Given the description of an element on the screen output the (x, y) to click on. 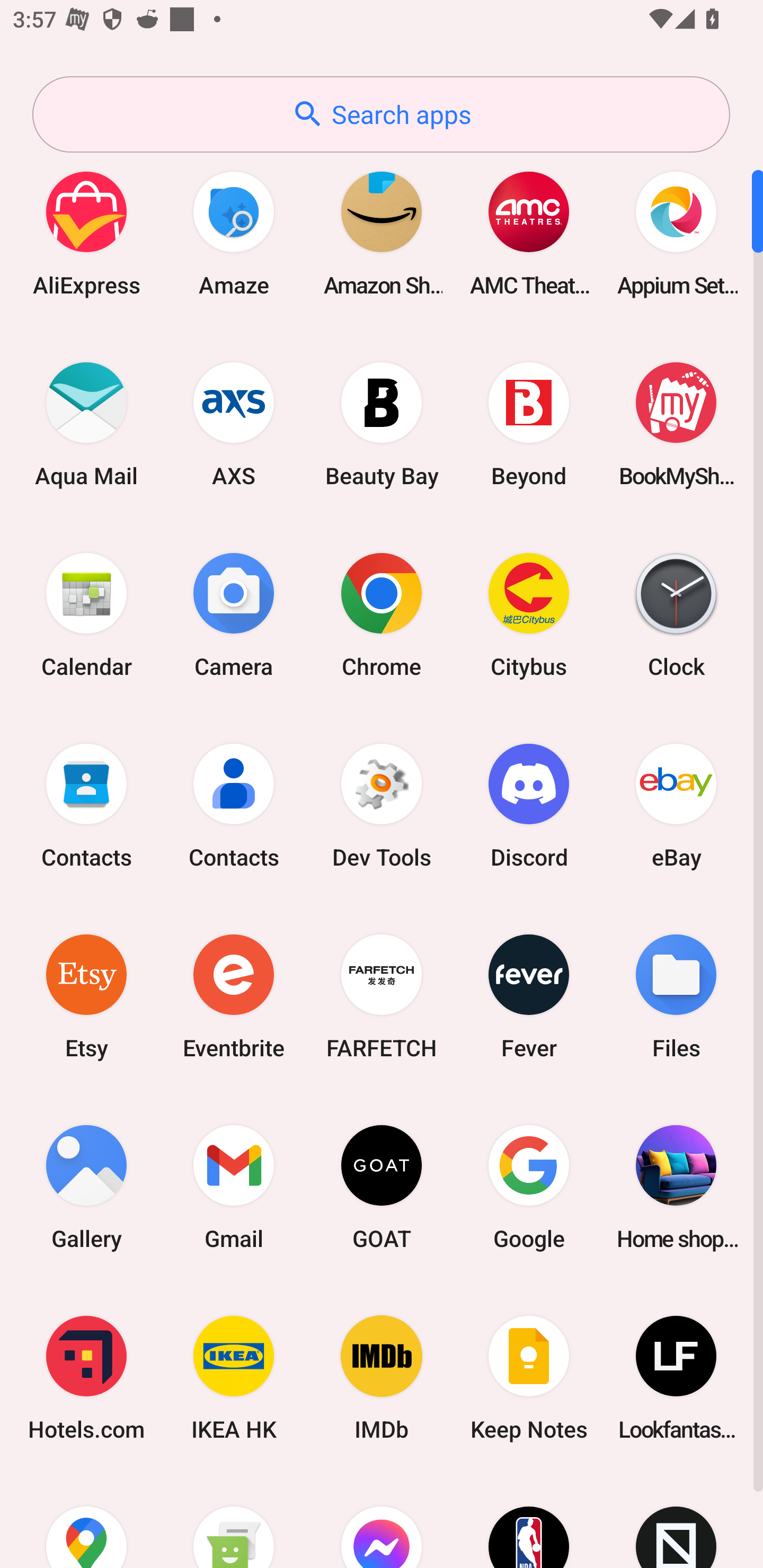
  Search apps (381, 114)
AliExpress (86, 233)
Amaze (233, 233)
Amazon Shopping (381, 233)
AMC Theatres (528, 233)
Appium Settings (676, 233)
Aqua Mail (86, 424)
AXS (233, 424)
Beauty Bay (381, 424)
Beyond (528, 424)
BookMyShow (676, 424)
Calendar (86, 614)
Camera (233, 614)
Chrome (381, 614)
Citybus (528, 614)
Clock (676, 614)
Contacts (86, 805)
Contacts (233, 805)
Dev Tools (381, 805)
Discord (528, 805)
eBay (676, 805)
Etsy (86, 996)
Eventbrite (233, 996)
FARFETCH (381, 996)
Fever (528, 996)
Files (676, 996)
Gallery (86, 1186)
Gmail (233, 1186)
GOAT (381, 1186)
Google (528, 1186)
Home shopping (676, 1186)
Hotels.com (86, 1377)
IKEA HK (233, 1377)
IMDb (381, 1377)
Keep Notes (528, 1377)
Lookfantastic (676, 1377)
Maps (86, 1520)
Messaging (233, 1520)
Messenger (381, 1520)
NBA (528, 1520)
Novelship (676, 1520)
